Given the description of an element on the screen output the (x, y) to click on. 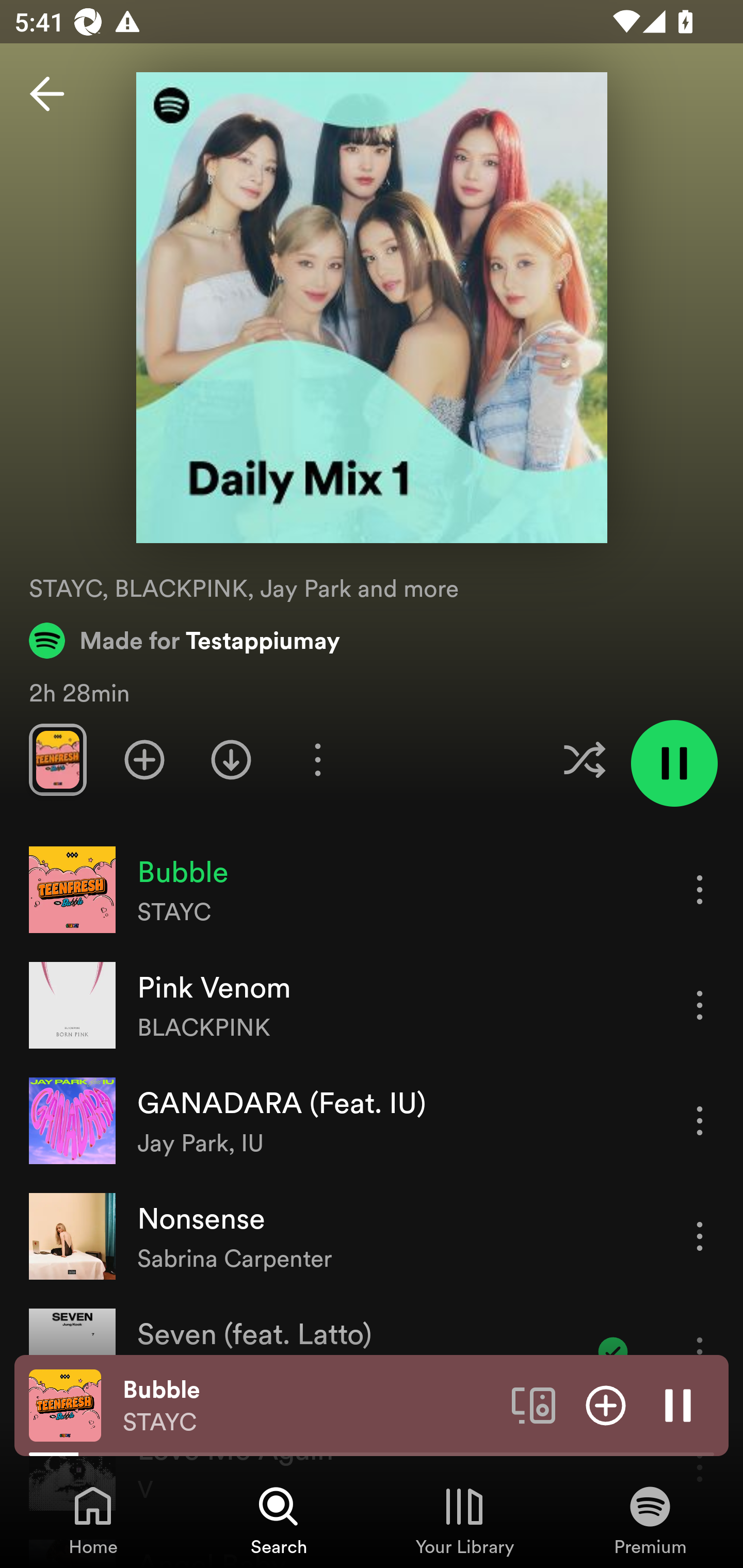
Back (46, 93)
Made for Testappiumay (184, 640)
Swipe through previews of tracks in this playlist. (57, 759)
Add playlist to Your Library (144, 759)
Download (230, 759)
More options for playlist Daily Mix 1 (317, 759)
Enable shuffle for this playlist (583, 759)
Pause playlist (674, 763)
Bubble STAYC More options for song Bubble (371, 889)
More options for song Bubble (699, 889)
More options for song Pink Venom (699, 1004)
More options for song GANADARA (Feat. IU) (699, 1120)
More options for song Nonsense (699, 1236)
Bubble STAYC (309, 1405)
The cover art of the currently playing track (64, 1404)
Connect to a device. Opens the devices menu (533, 1404)
Add item (605, 1404)
Pause (677, 1404)
Home, Tab 1 of 4 Home Home (92, 1519)
Search, Tab 2 of 4 Search Search (278, 1519)
Your Library, Tab 3 of 4 Your Library Your Library (464, 1519)
Premium, Tab 4 of 4 Premium Premium (650, 1519)
